Given the description of an element on the screen output the (x, y) to click on. 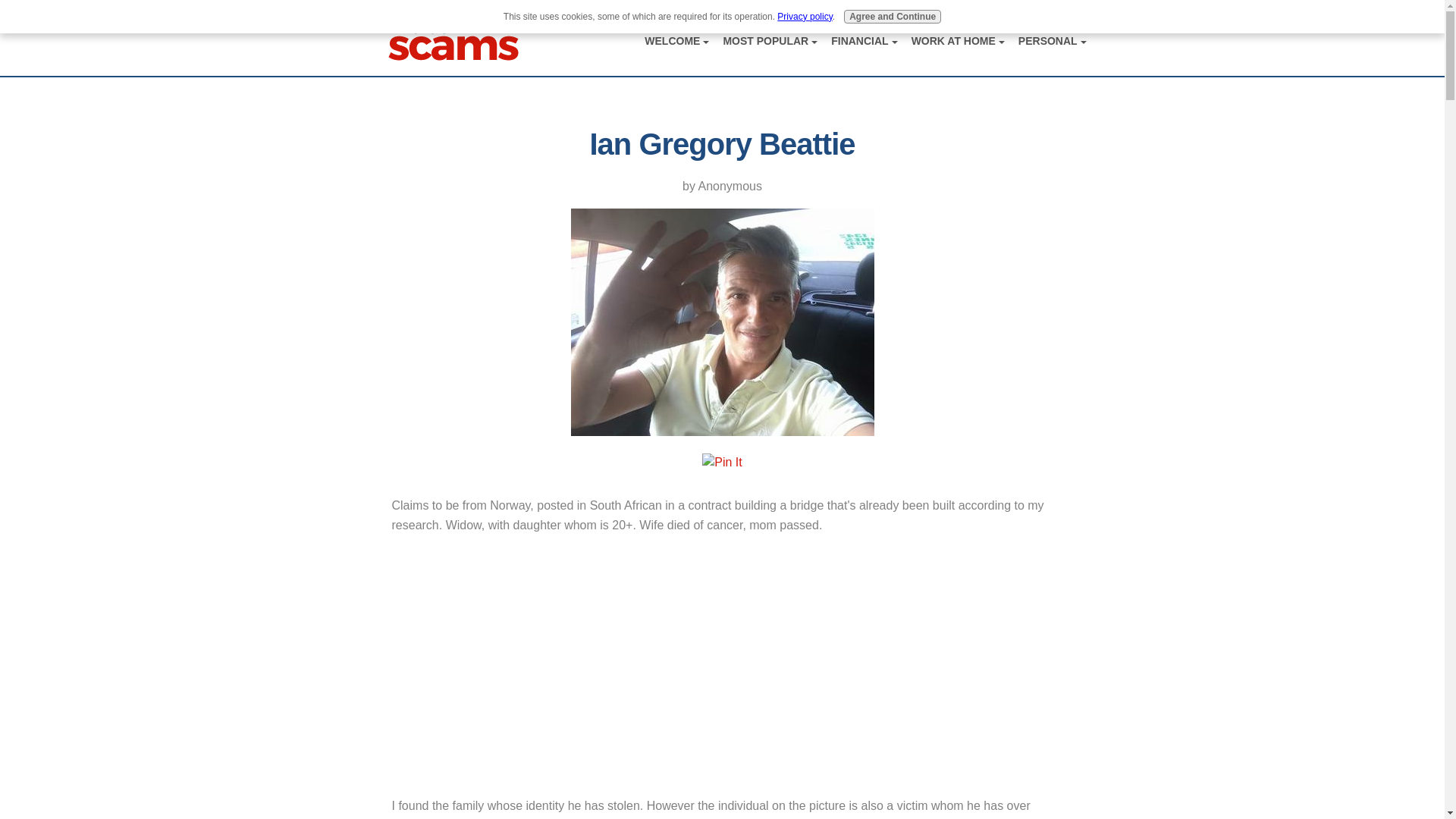
Pin It (721, 462)
